Given the description of an element on the screen output the (x, y) to click on. 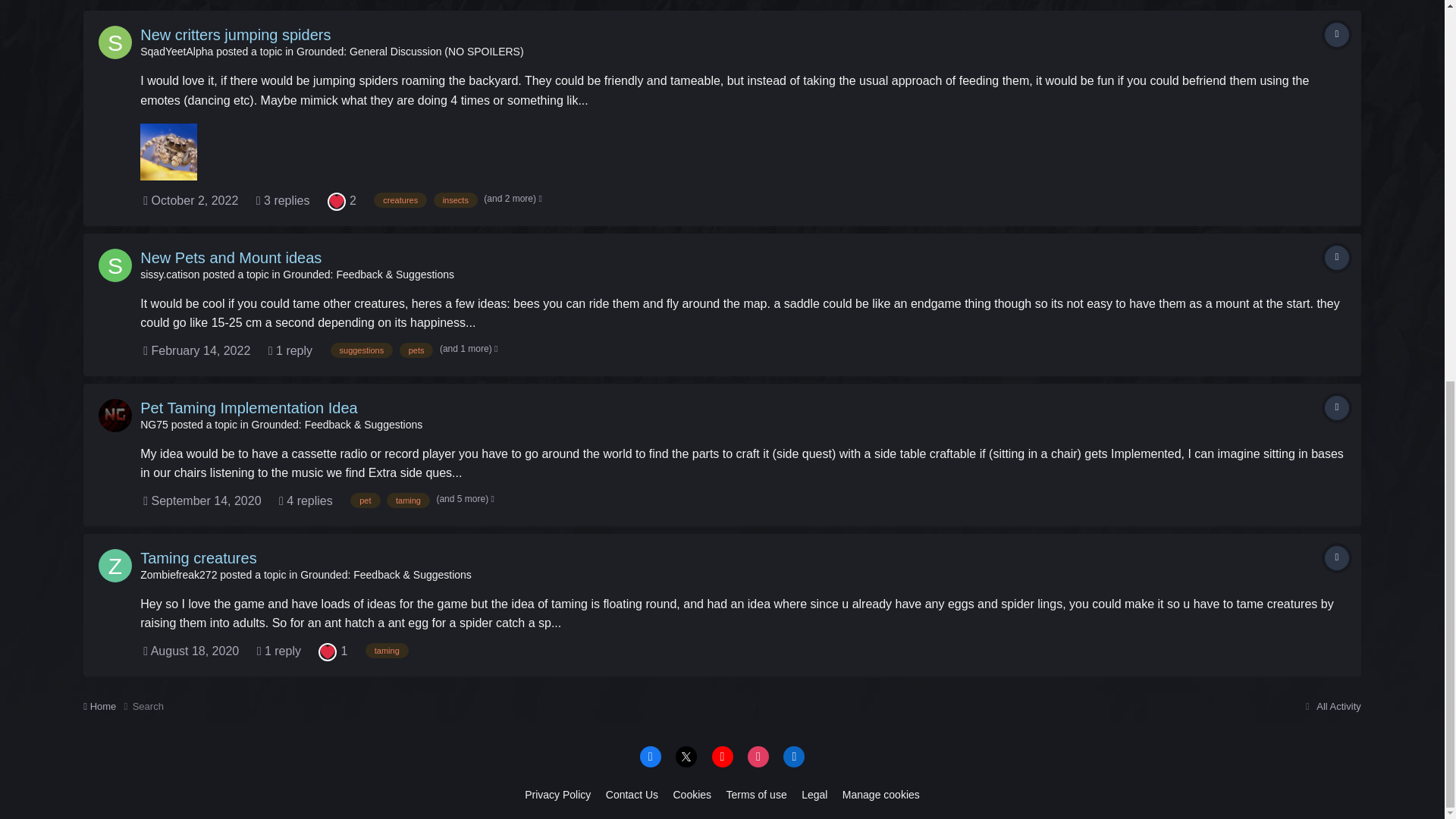
Topic (1336, 257)
Go to sissy.catison's profile (115, 264)
Go to SqadYeetAlpha's profile (115, 41)
Find other content tagged with 'suggestions' (361, 350)
Go to SqadYeetAlpha's profile (175, 51)
Topic (1336, 34)
Go to sissy.catison's profile (169, 274)
Like (336, 200)
Find other content tagged with 'insects' (455, 200)
Find other content tagged with 'creatures' (400, 200)
